Given the description of an element on the screen output the (x, y) to click on. 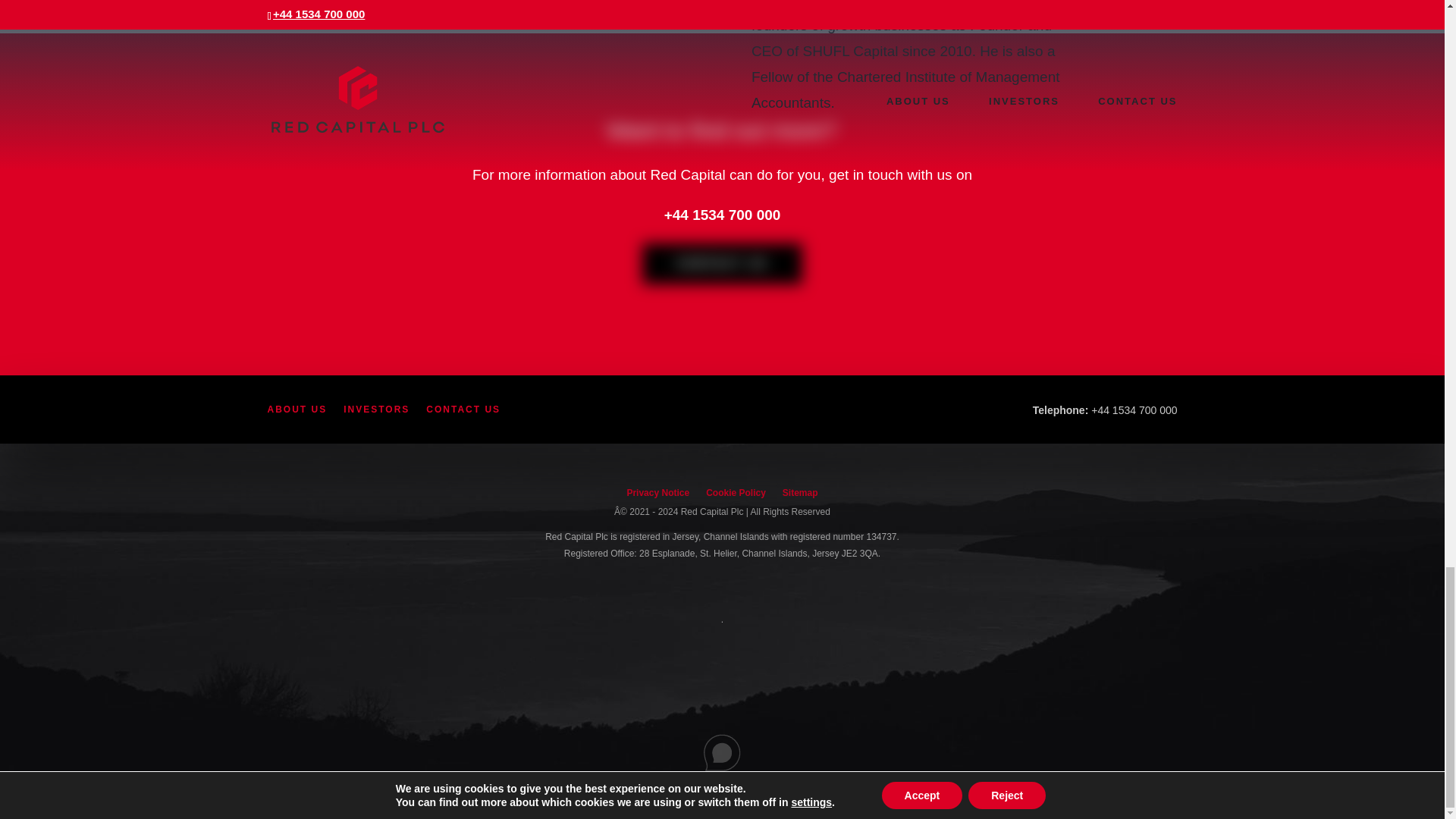
INVESTORS (376, 412)
Privacy Notice (657, 495)
CONTACT US (463, 412)
Website by SiteBites (722, 791)
ABOUT US (296, 412)
Sitemap (800, 495)
Cookie Policy (735, 495)
CONTACT US (722, 263)
